Given the description of an element on the screen output the (x, y) to click on. 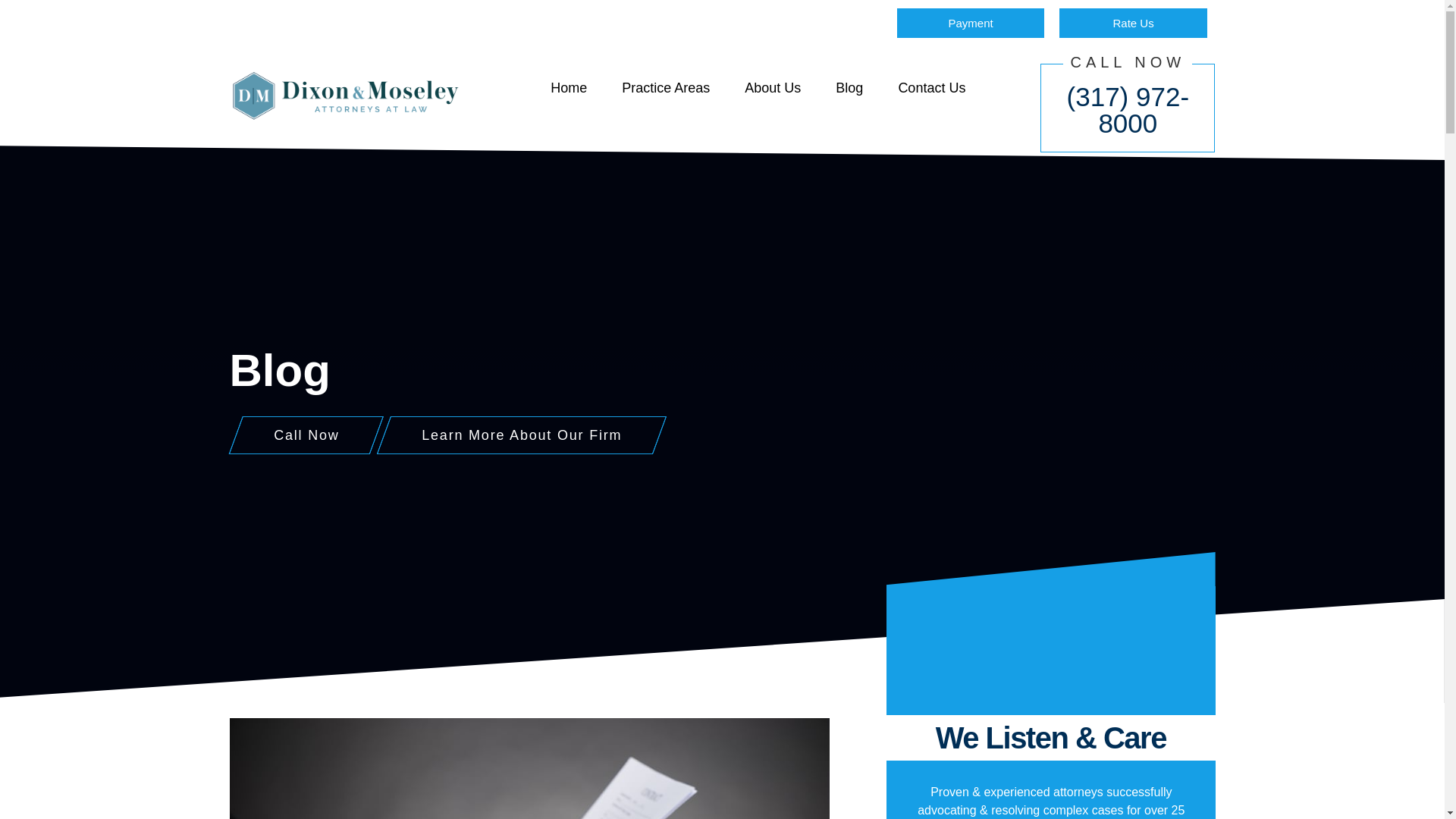
Payment (970, 22)
Home (568, 87)
Rate Us (1133, 22)
Practice Areas (666, 87)
